Given the description of an element on the screen output the (x, y) to click on. 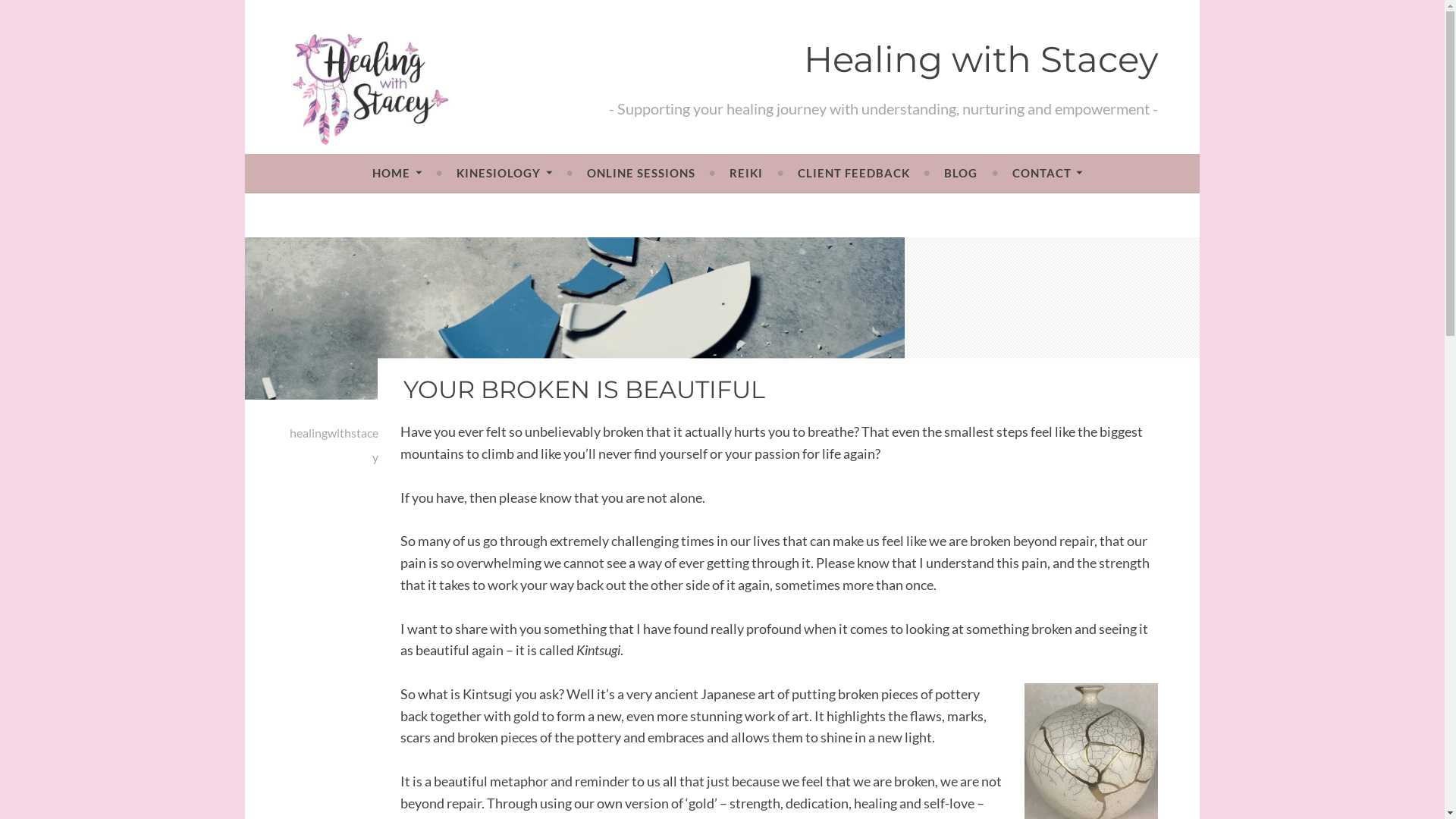
BLOG Element type: text (960, 172)
healingwithstacey Element type: text (333, 444)
KINESIOLOGY Element type: text (504, 172)
ONLINE SESSIONS Element type: text (640, 172)
REIKI Element type: text (745, 172)
Healing with Stacey Element type: text (980, 59)
CONTACT Element type: text (1047, 172)
CLIENT FEEDBACK Element type: text (853, 172)
HOME Element type: text (396, 172)
